Given the description of an element on the screen output the (x, y) to click on. 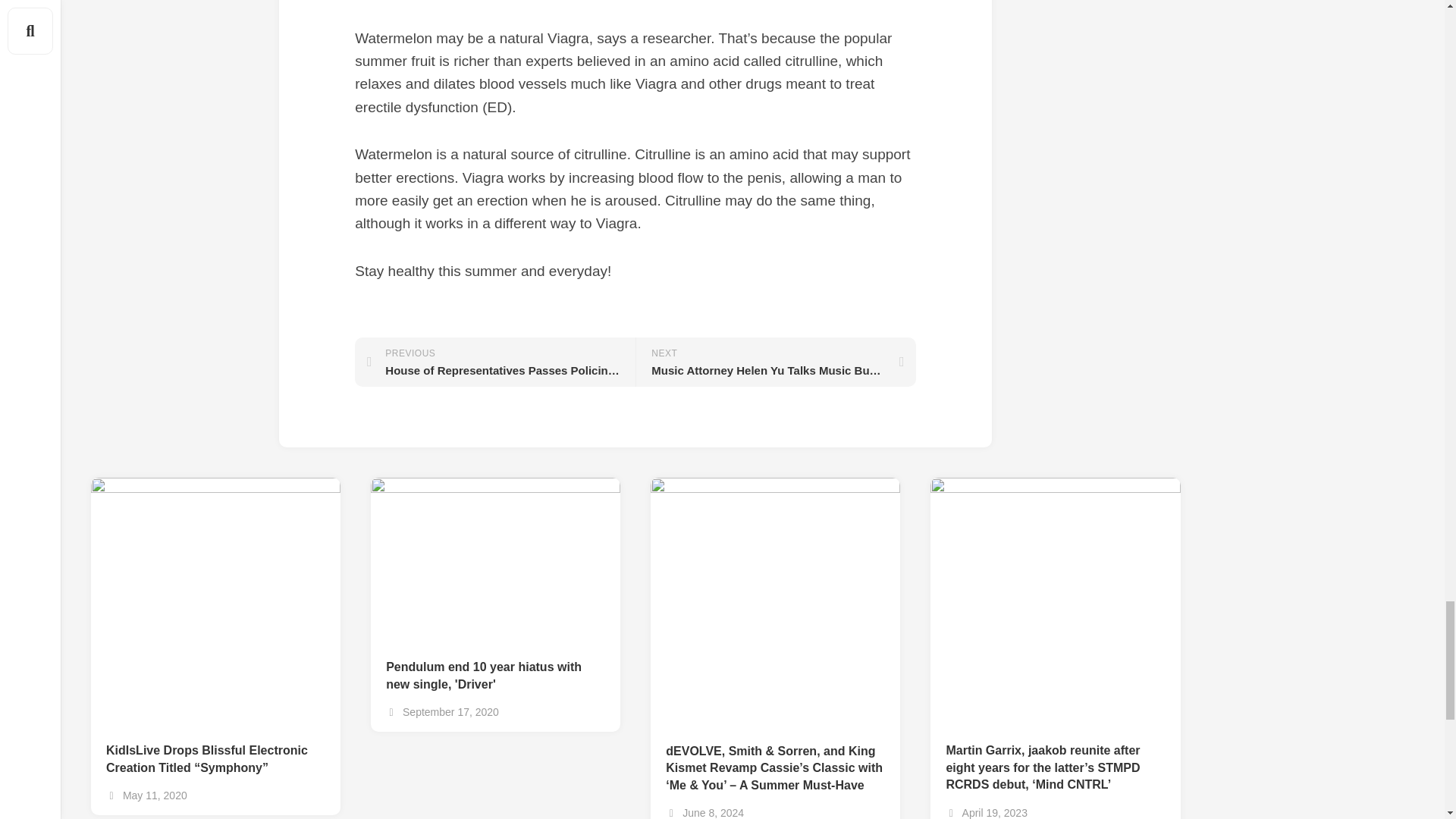
Pendulum end 10 year hiatus with new single, 'Driver' (495, 667)
